Given the description of an element on the screen output the (x, y) to click on. 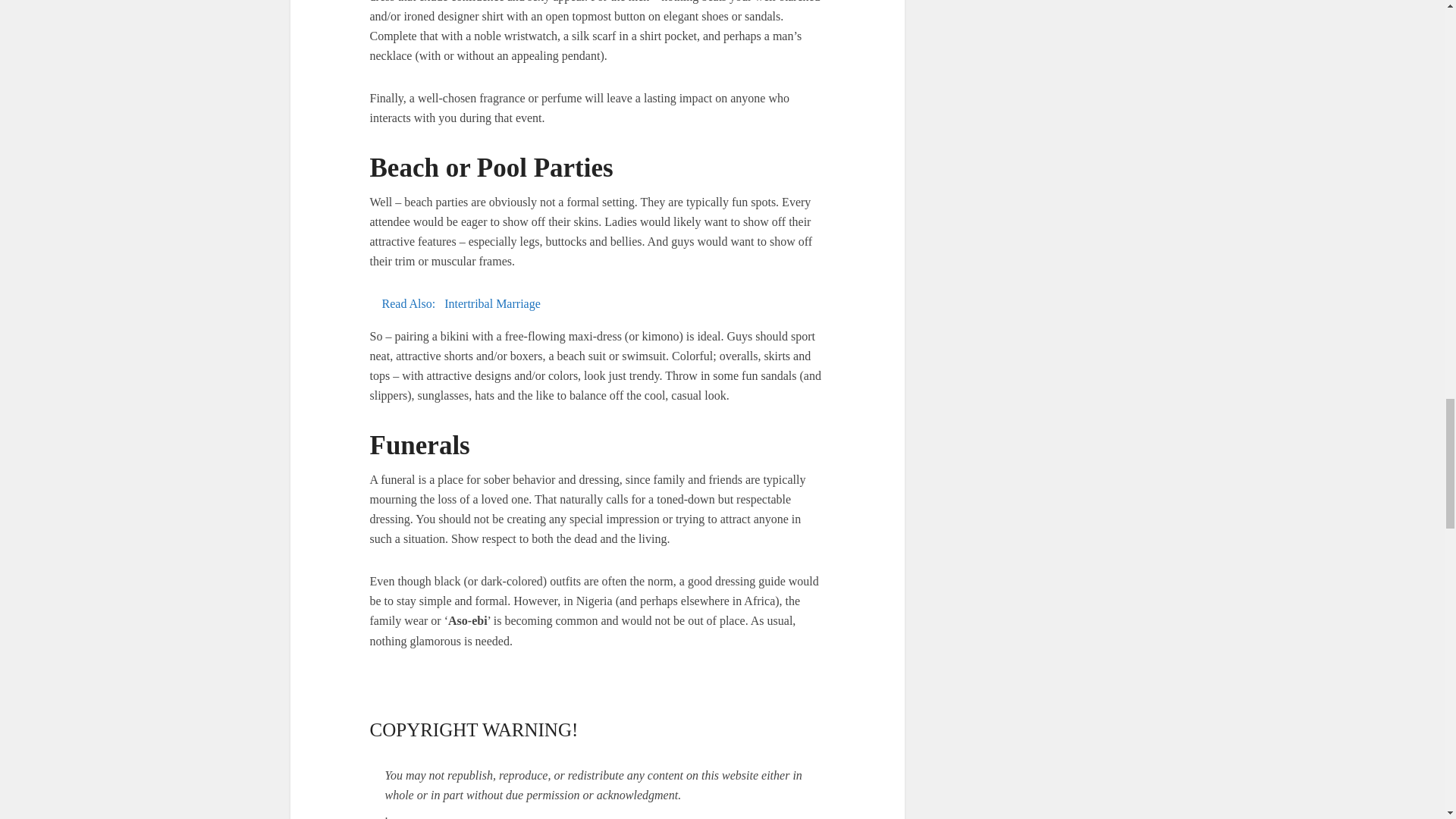
Read Also:   Intertribal Marriage (597, 303)
